Given the description of an element on the screen output the (x, y) to click on. 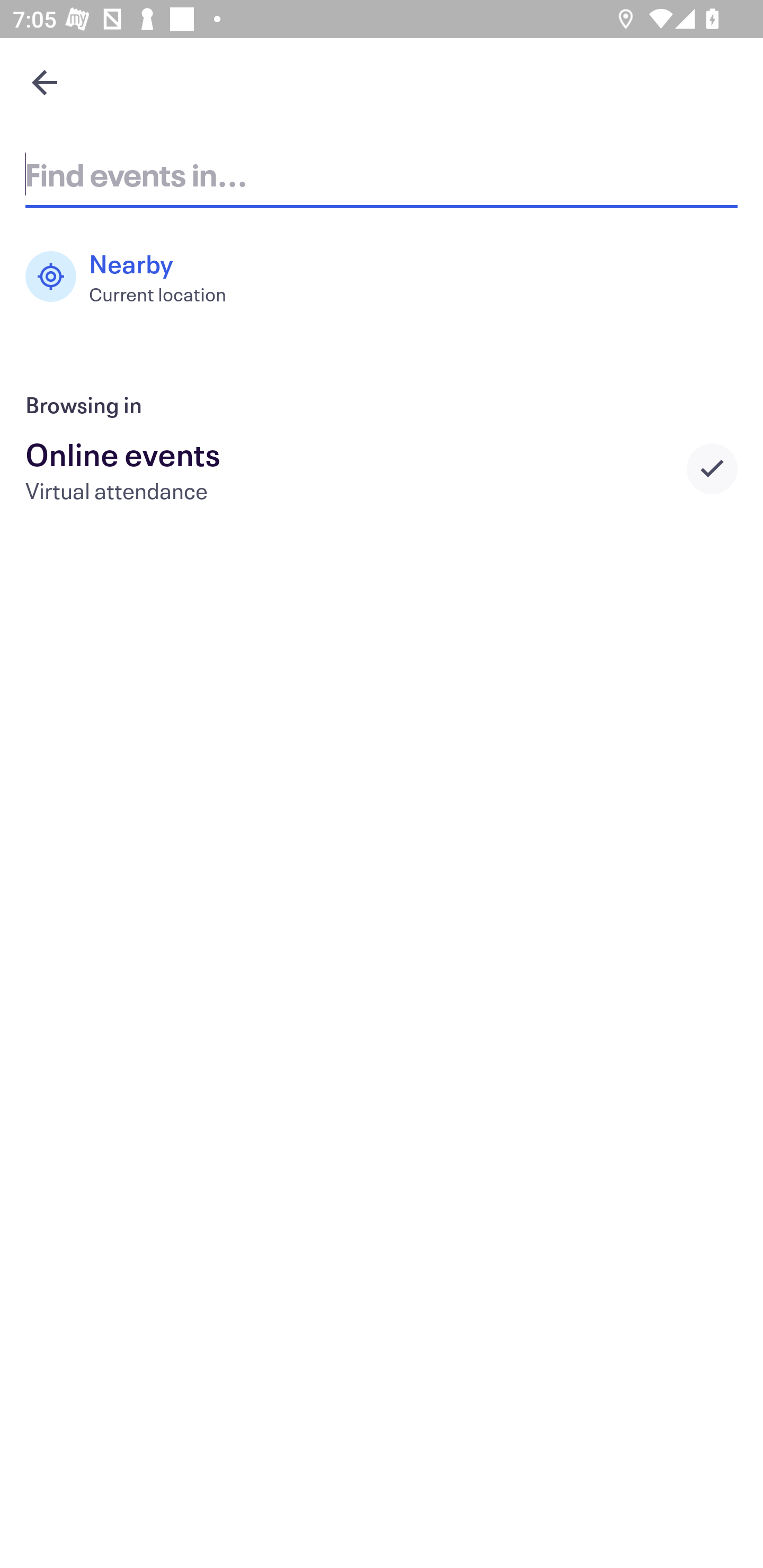
Navigate up (44, 82)
Find events in... (381, 173)
Nearby Current location (135, 276)
Online events Virtual attendance Selected city (381, 468)
